Given the description of an element on the screen output the (x, y) to click on. 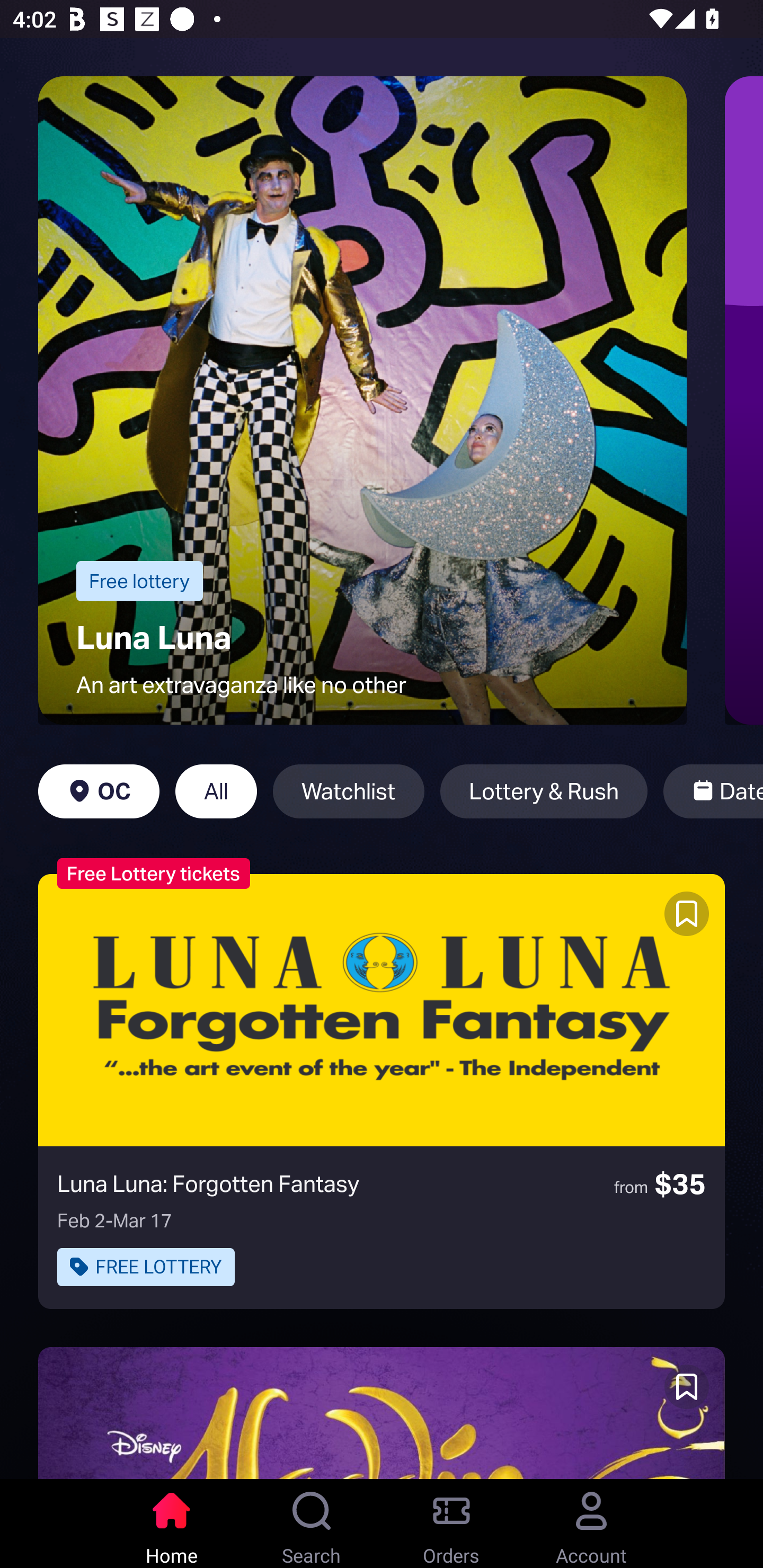
OC (98, 791)
All (216, 791)
Watchlist (348, 791)
Lottery & Rush (543, 791)
Search (311, 1523)
Orders (451, 1523)
Account (591, 1523)
